Given the description of an element on the screen output the (x, y) to click on. 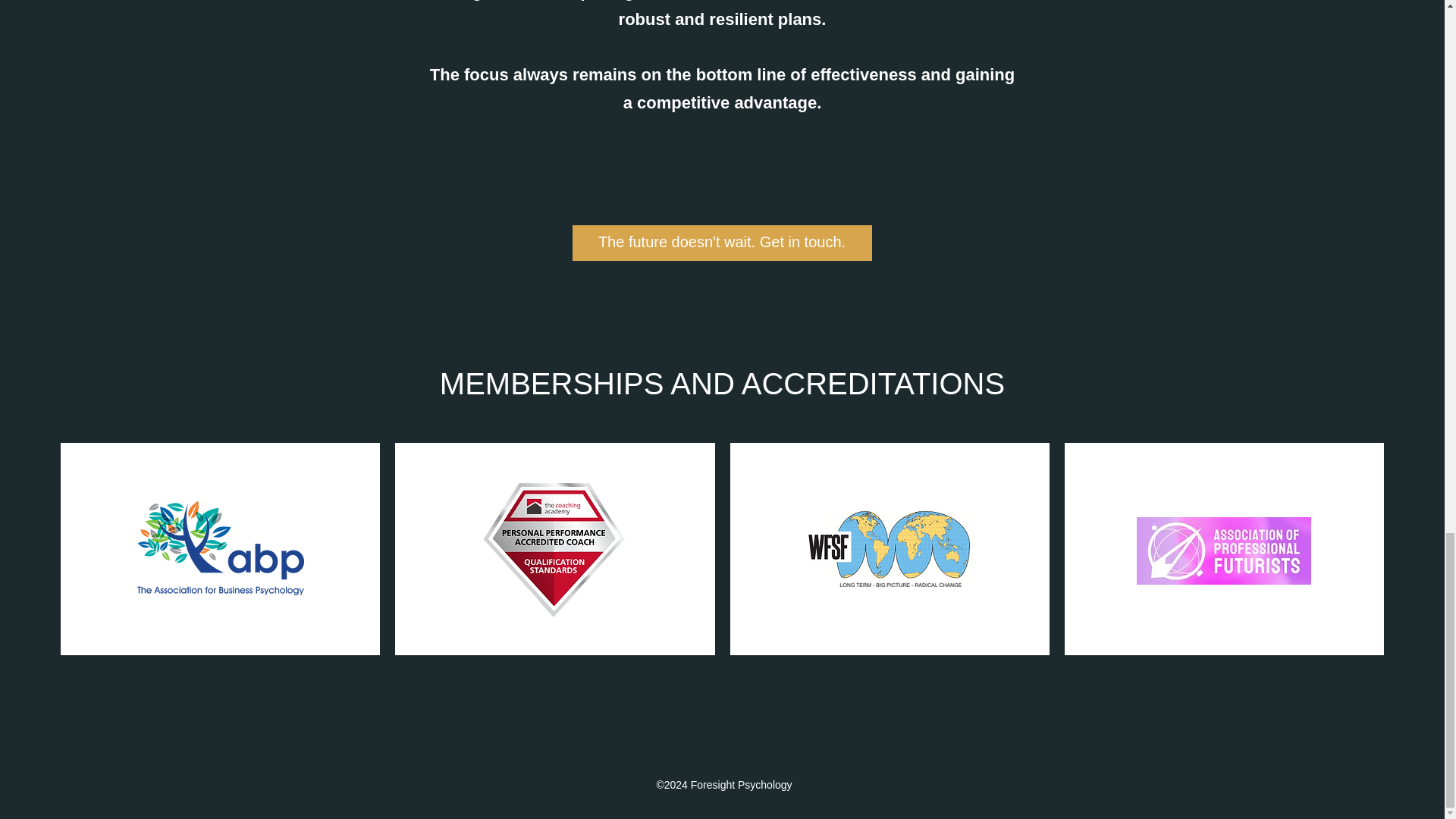
The future doesn't wait. Get in touch. (721, 243)
